Given the description of an element on the screen output the (x, y) to click on. 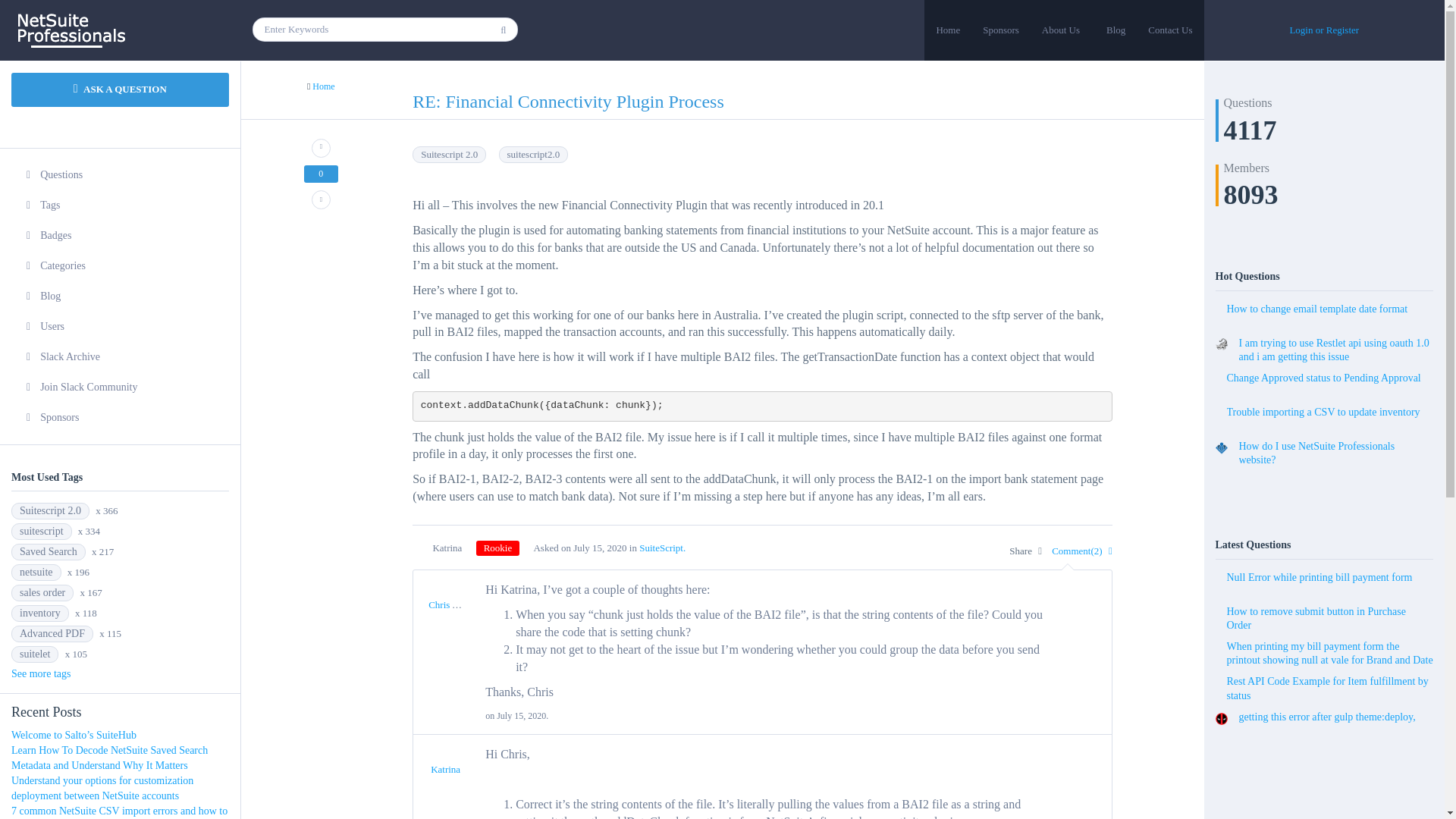
This is not useful (320, 199)
Chris Abbott (453, 604)
This is useful. (320, 148)
Katrina (445, 768)
13 (497, 548)
